Given the description of an element on the screen output the (x, y) to click on. 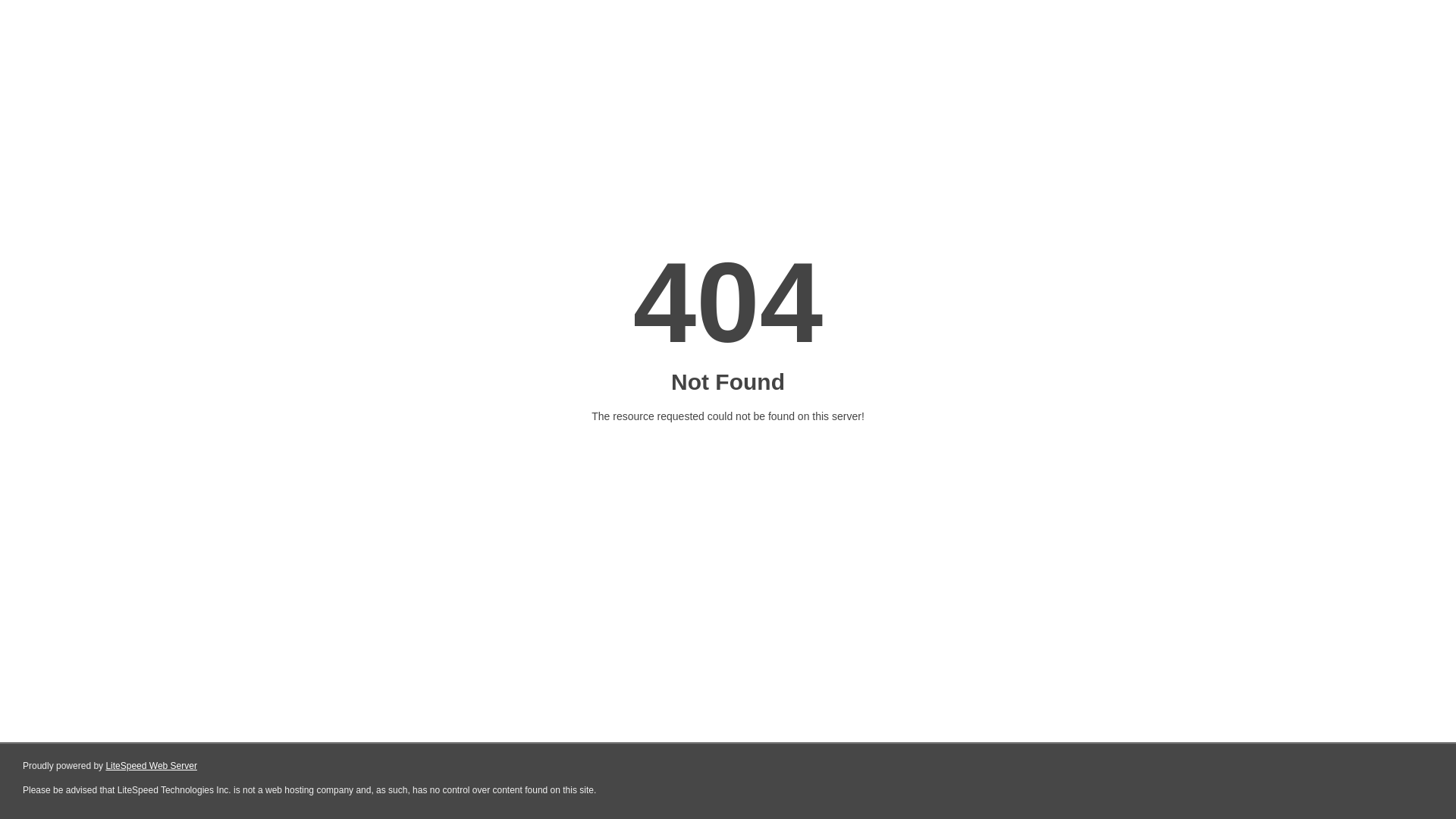
LiteSpeed Web Server Element type: text (151, 765)
